Given the description of an element on the screen output the (x, y) to click on. 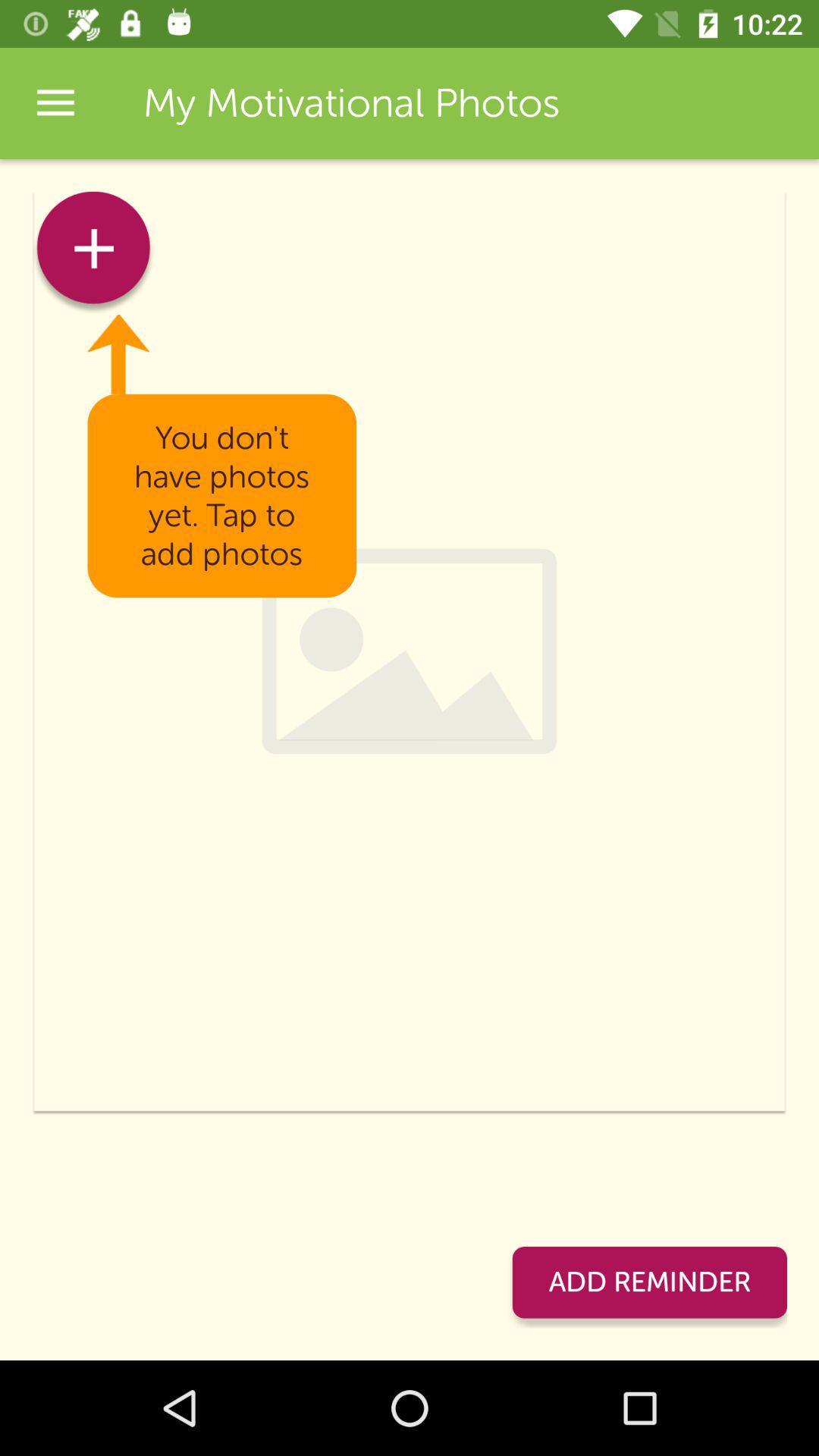
press add reminder icon (649, 1282)
